Given the description of an element on the screen output the (x, y) to click on. 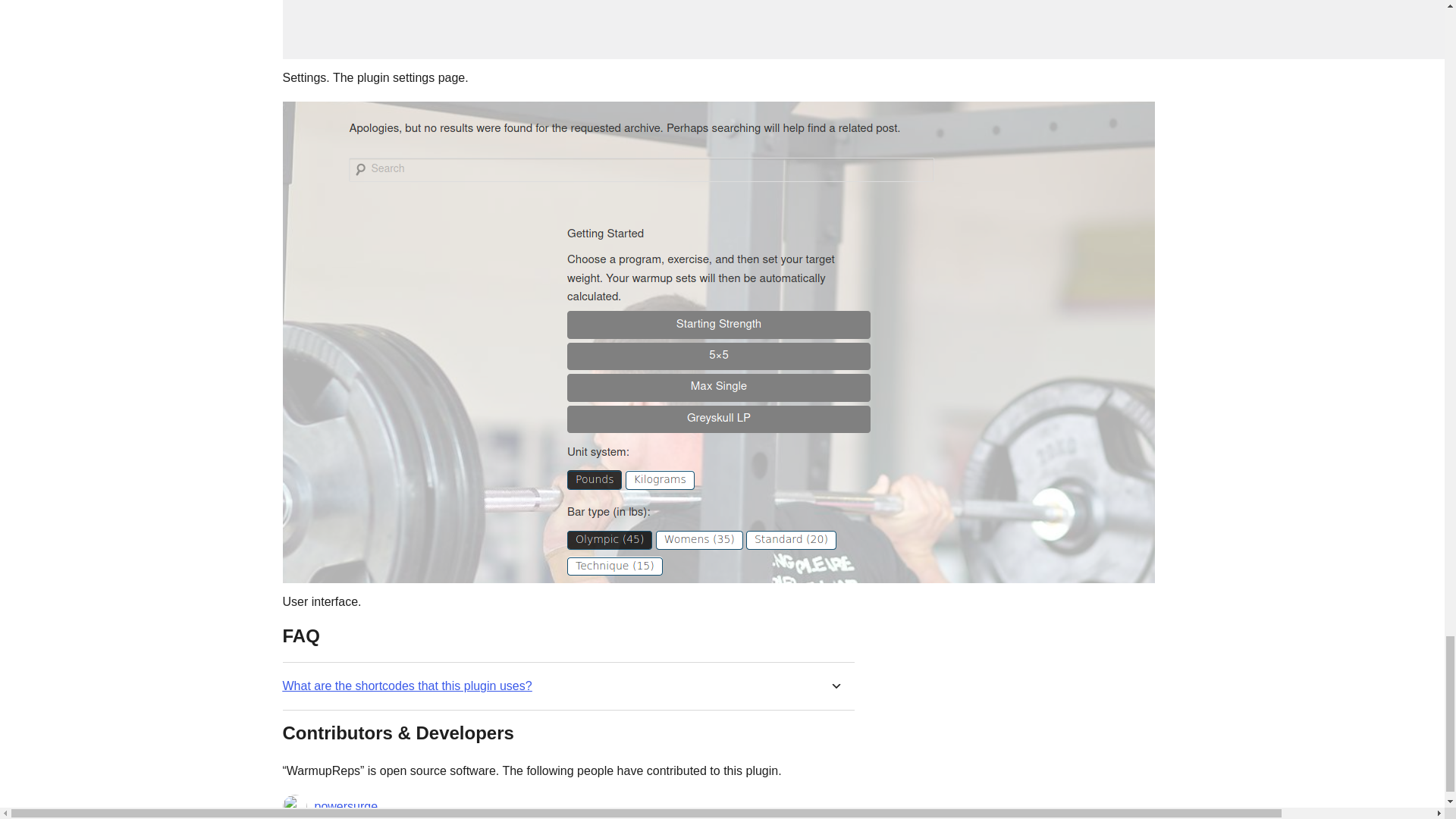
powersurge (345, 806)
What are the shortcodes that this plugin uses? (406, 685)
